Given the description of an element on the screen output the (x, y) to click on. 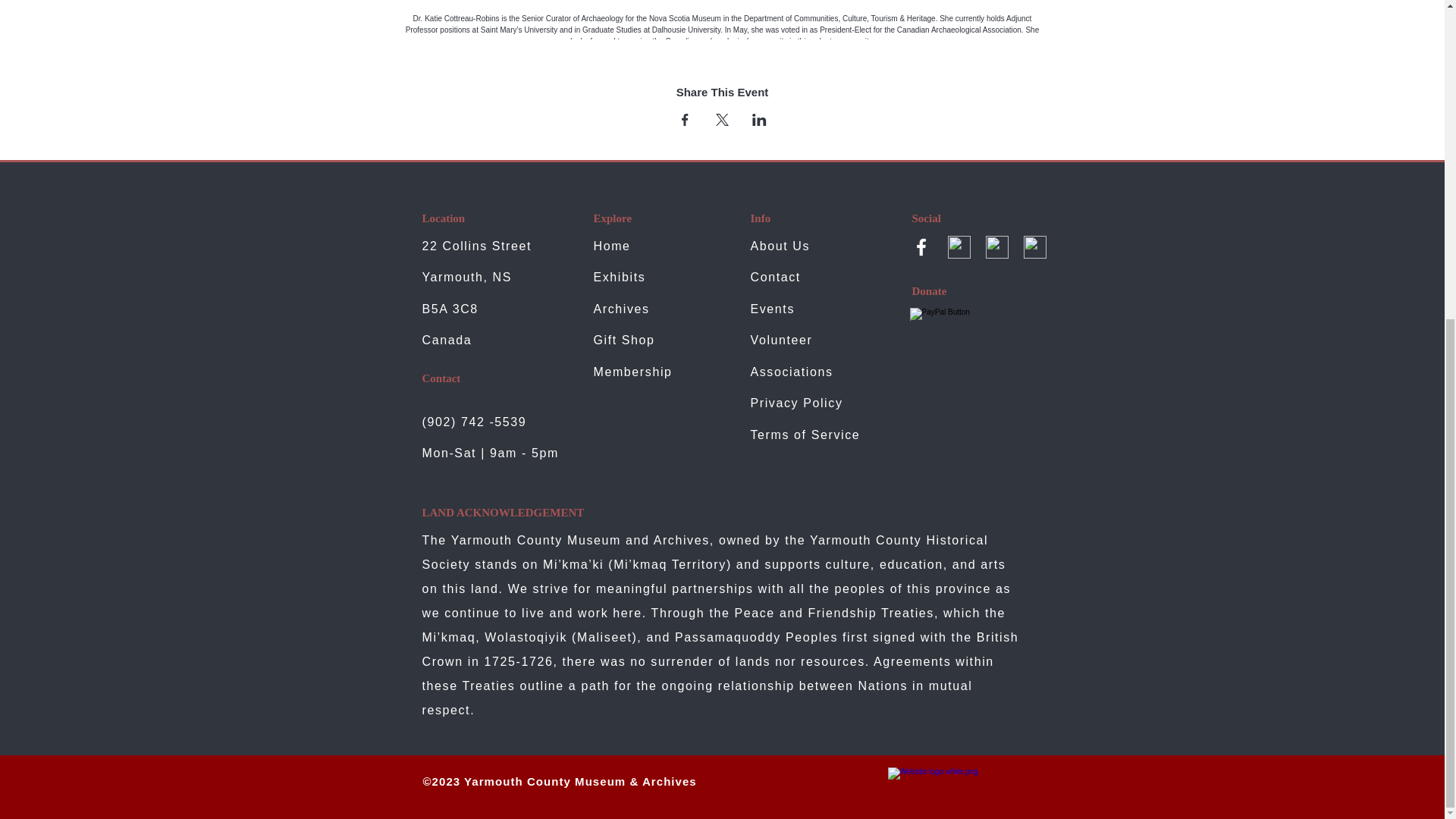
Membership (631, 371)
Home (611, 245)
Gift Shop (622, 339)
Exhibits (618, 277)
Archives  (622, 308)
Volunteer (781, 339)
About Us (780, 245)
Events (772, 308)
Contact (775, 277)
